Given the description of an element on the screen output the (x, y) to click on. 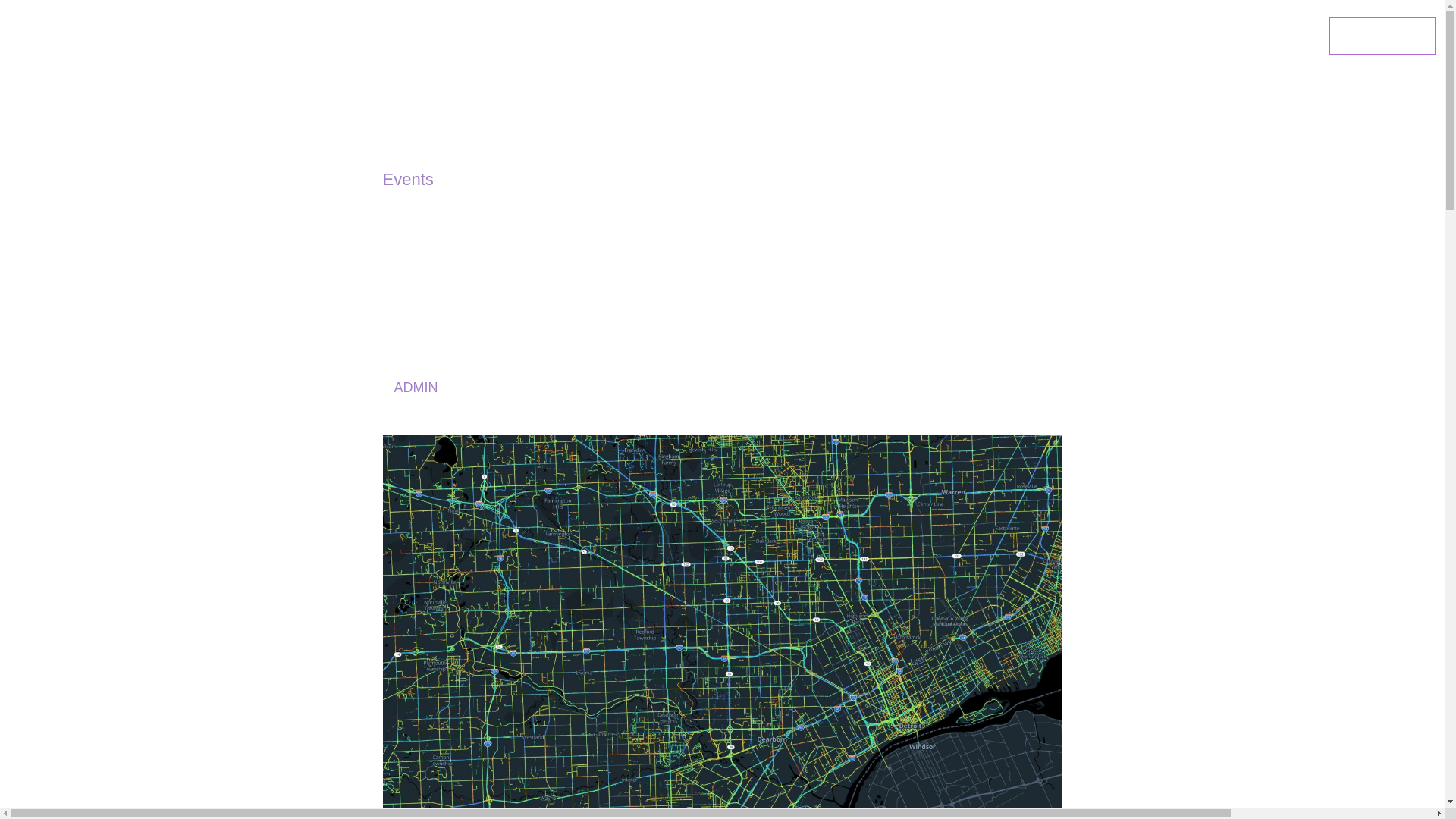
INDUSTRIES (977, 36)
WE ARE NIRA (1080, 36)
CONTACT US (1382, 35)
CAREER (1171, 36)
Events (406, 179)
ADMIN (416, 387)
LATEST (1244, 36)
PRODUCTS (875, 36)
